Given the description of an element on the screen output the (x, y) to click on. 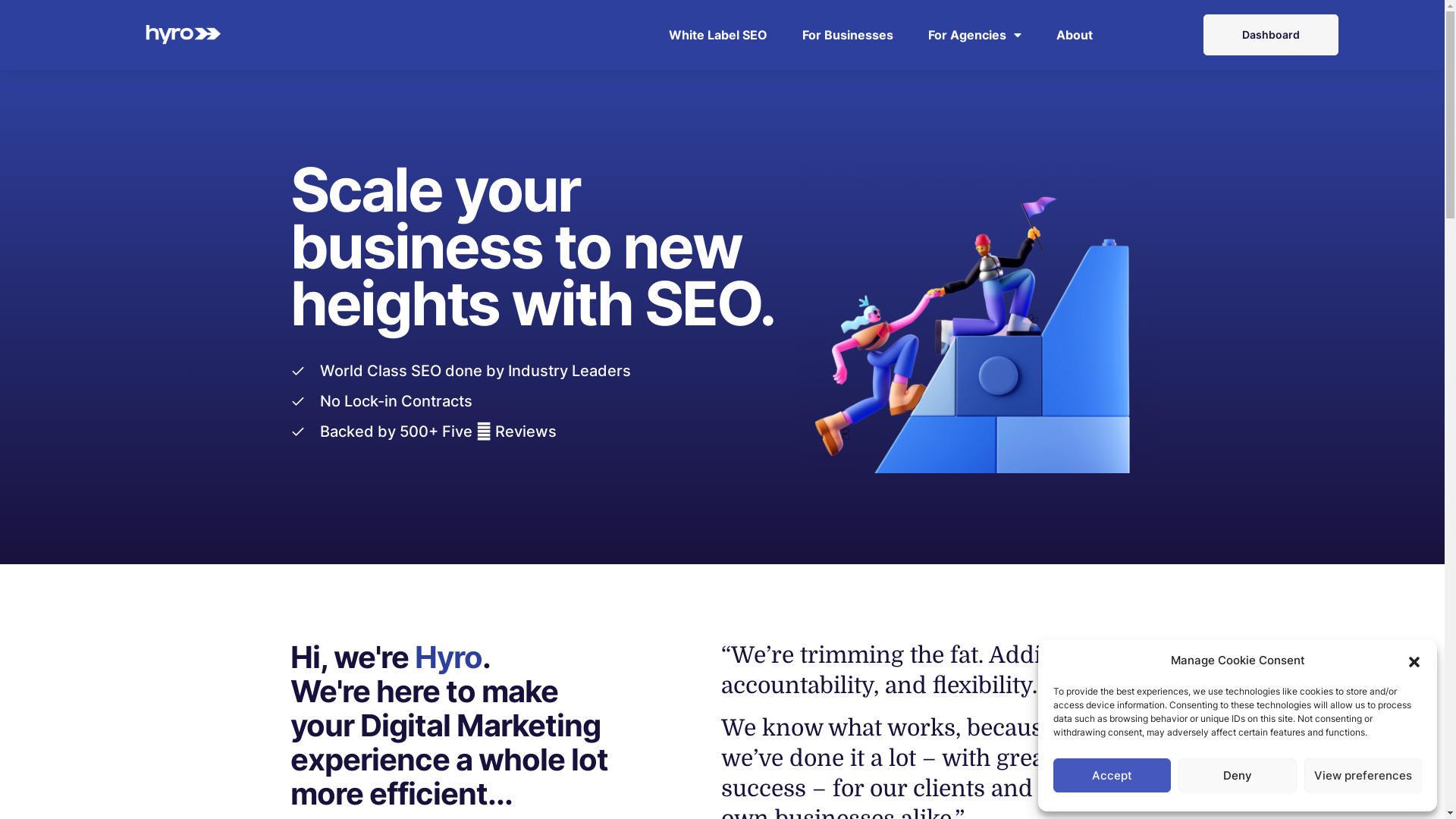
Accept Element type: text (1111, 775)
For Agencies Element type: text (974, 34)
Deny Element type: text (1236, 775)
About Element type: text (1074, 34)
Dashboard Element type: text (1270, 34)
View preferences Element type: text (1362, 775)
White Label SEO Element type: text (717, 34)
For Businesses Element type: text (847, 34)
